Given the description of an element on the screen output the (x, y) to click on. 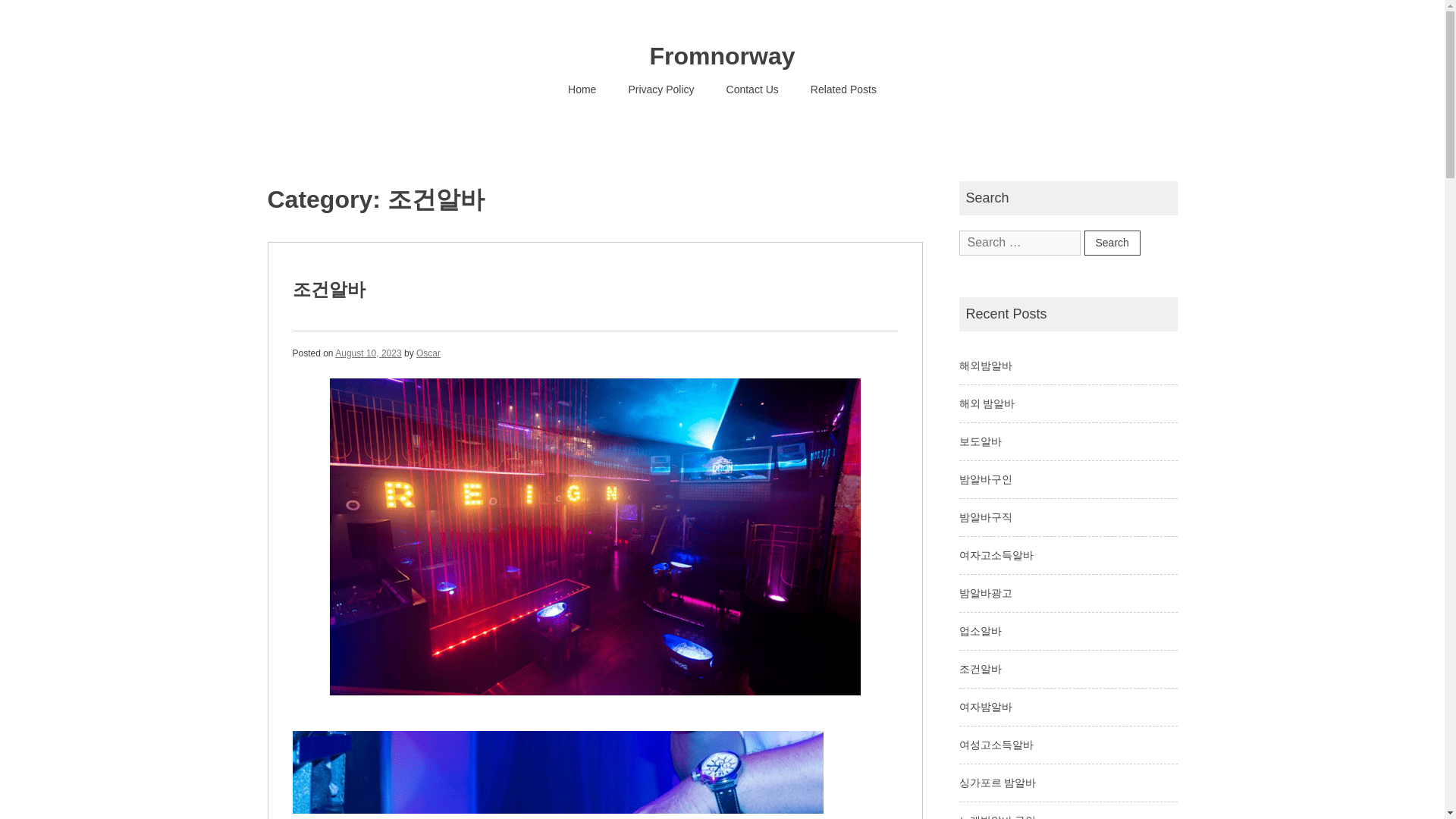
Home (581, 89)
Oscar (428, 352)
Contact Us (752, 89)
Privacy Policy (660, 89)
Search (1112, 242)
Fromnorway (721, 55)
August 10, 2023 (367, 352)
Search (1112, 242)
Related Posts (843, 89)
Search (1112, 242)
